Given the description of an element on the screen output the (x, y) to click on. 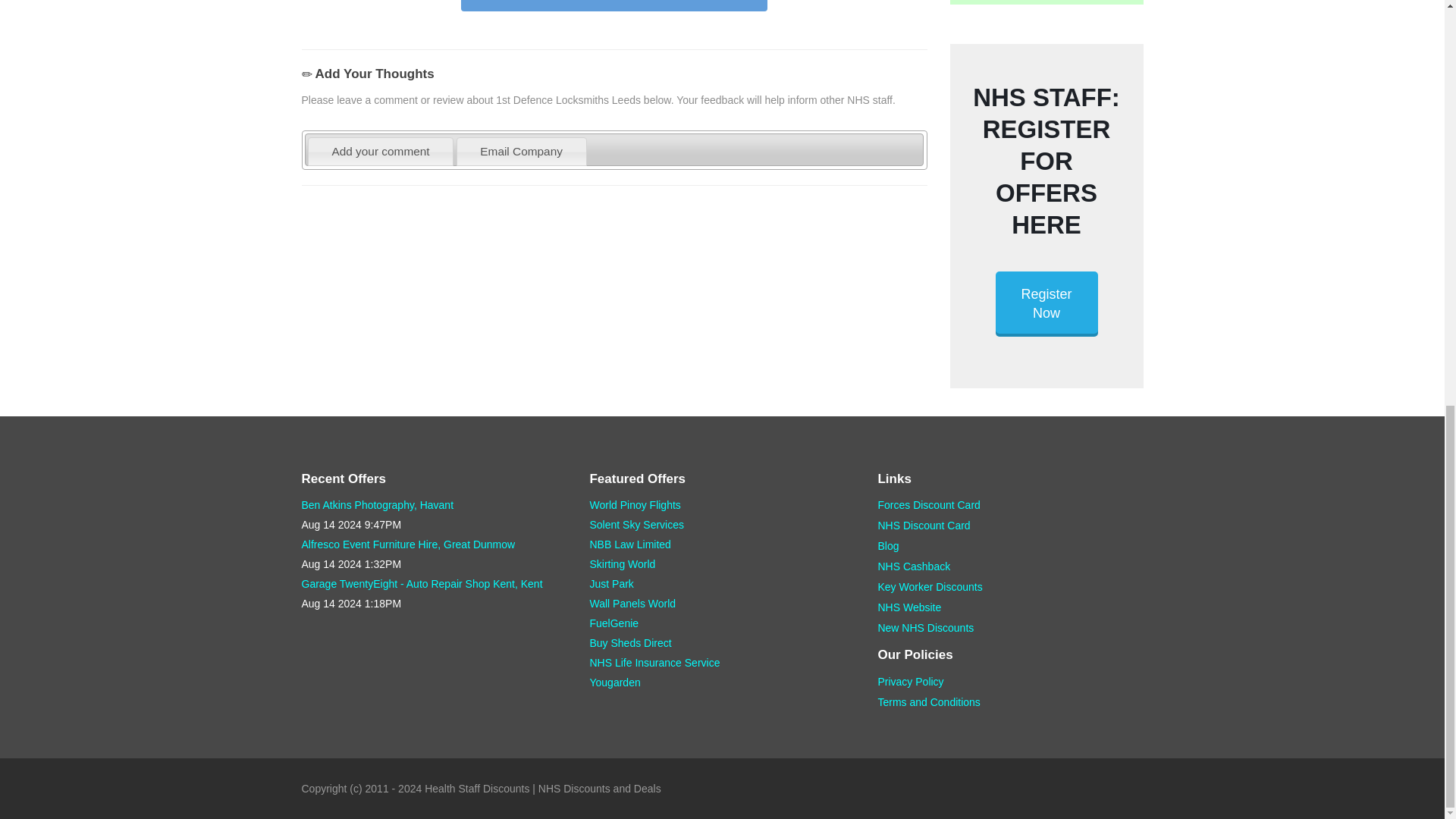
Add your comment (380, 152)
Visit 1st Defence Locksmiths Leeds Website (614, 5)
Email Company (521, 152)
Register Now (1045, 303)
